Given the description of an element on the screen output the (x, y) to click on. 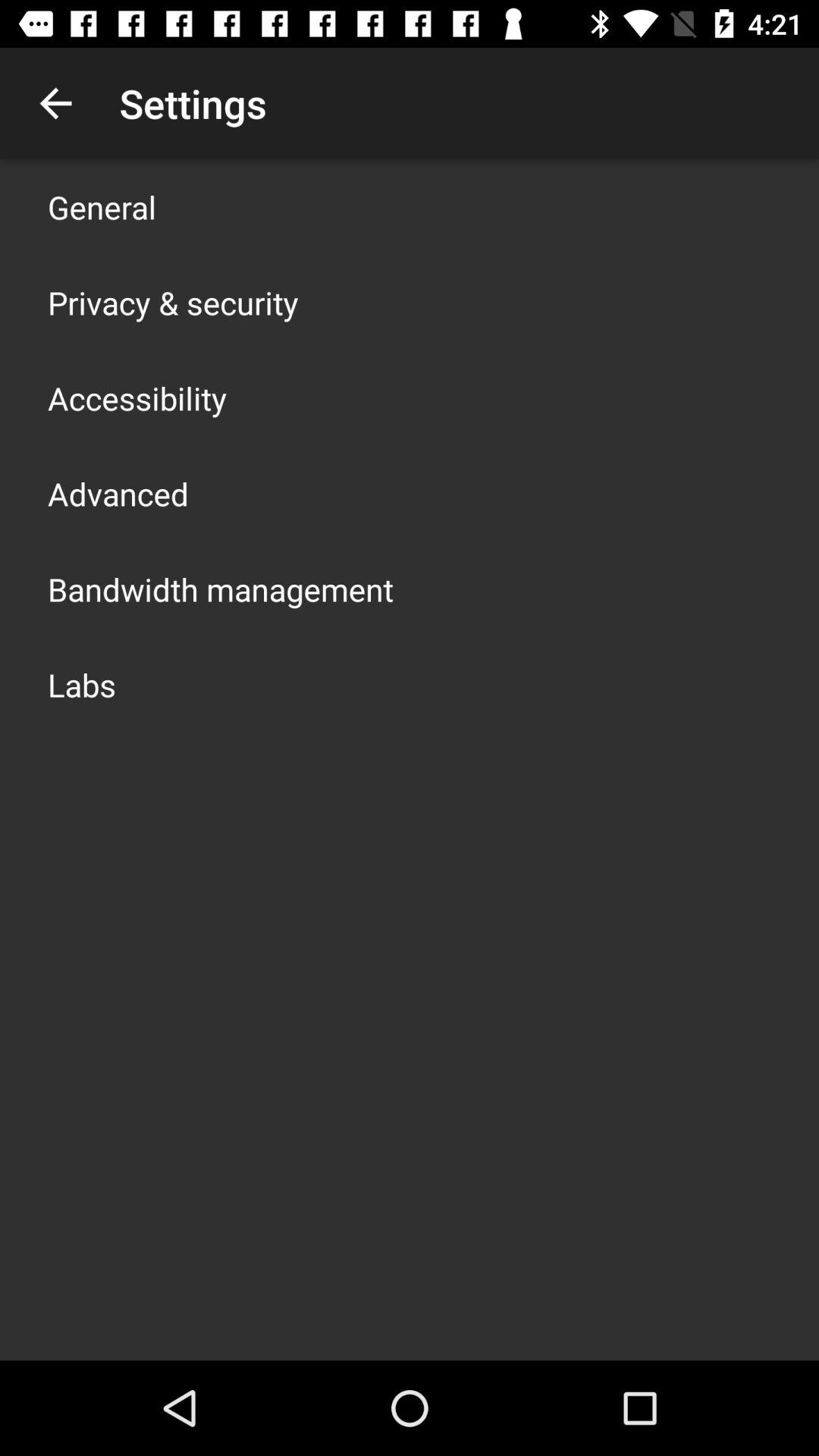
click bandwidth management (220, 588)
